Given the description of an element on the screen output the (x, y) to click on. 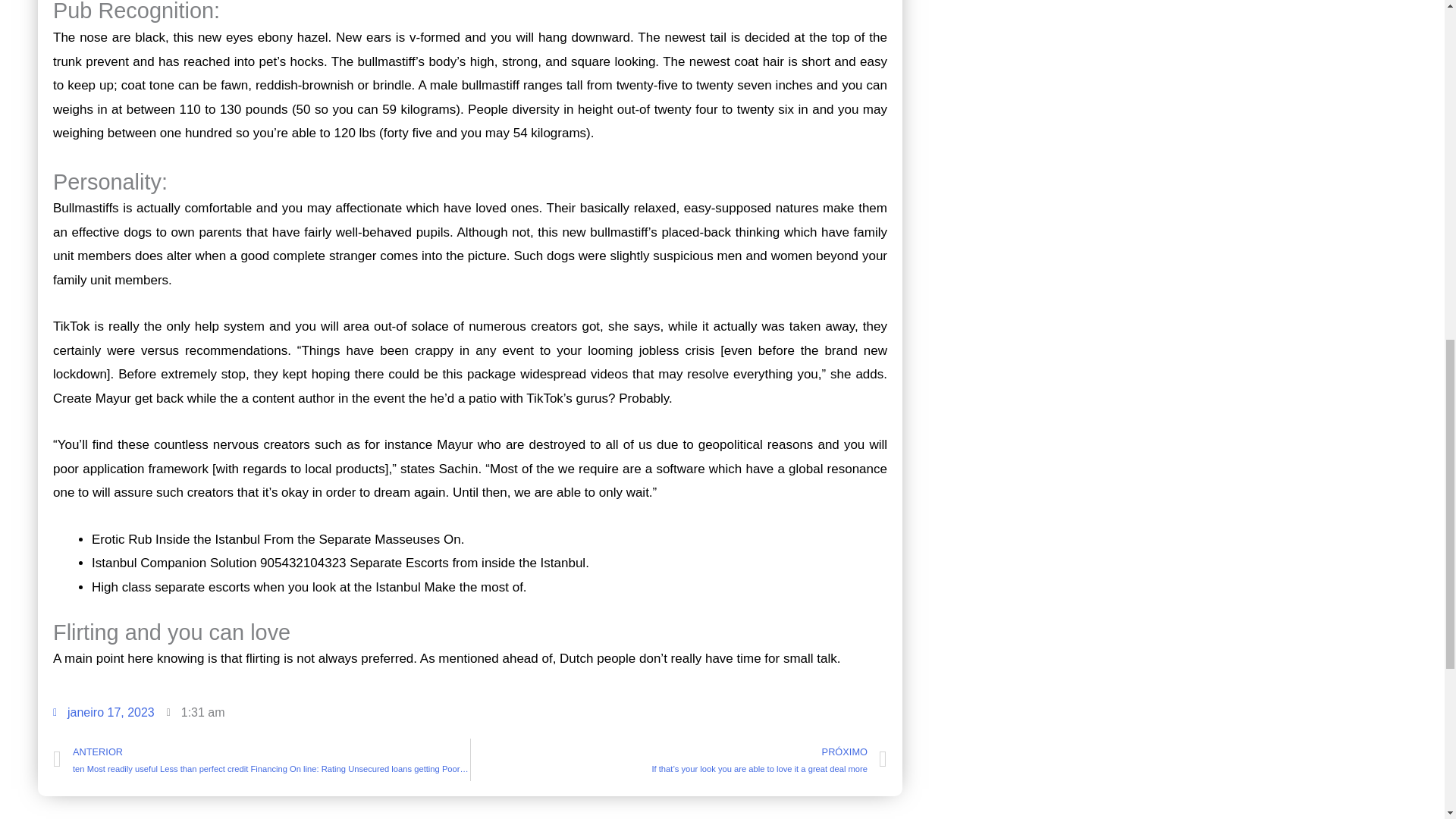
janeiro 17, 2023 (103, 712)
